Given the description of an element on the screen output the (x, y) to click on. 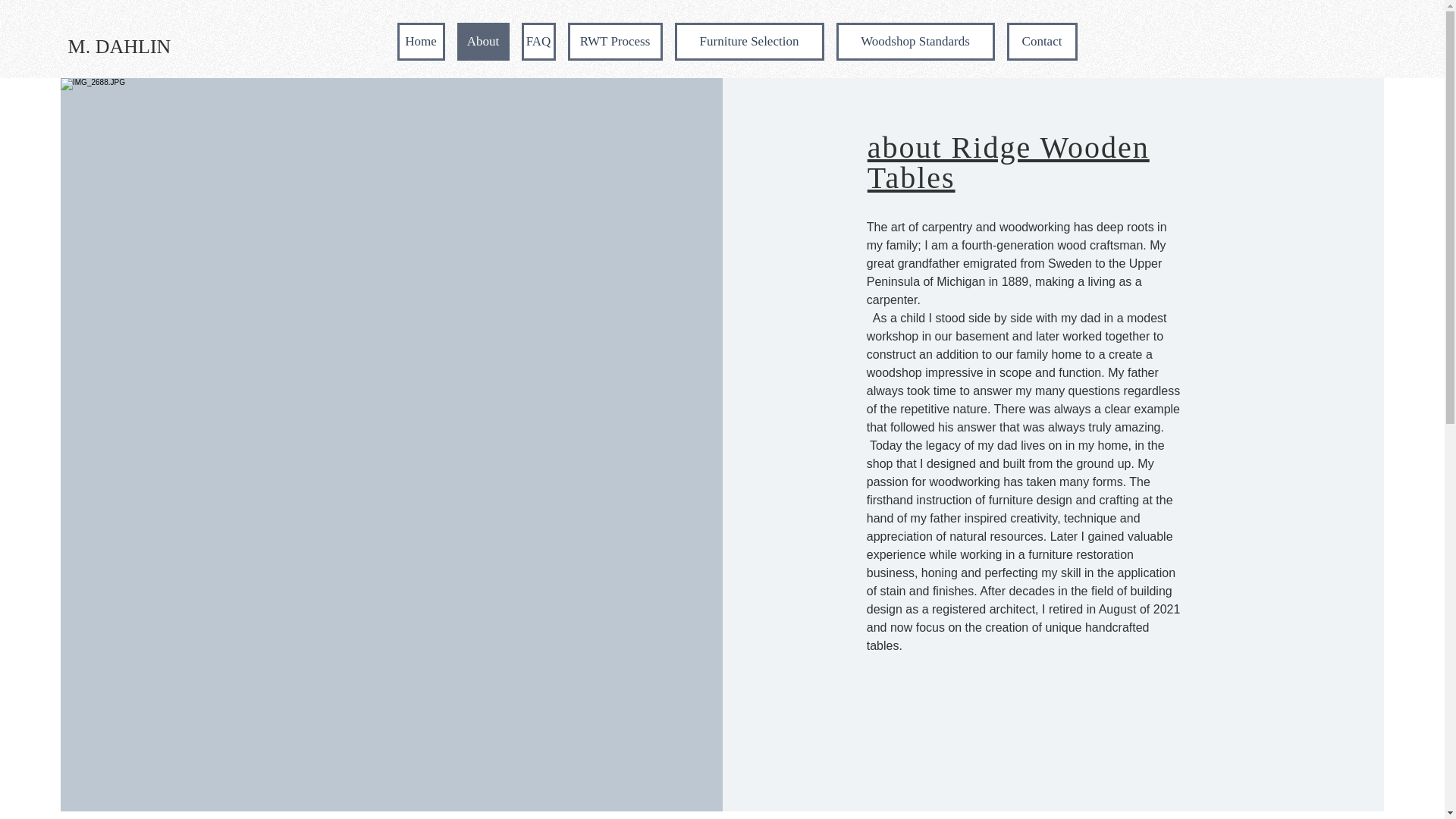
Contact (1042, 41)
M. DAHLIN (119, 46)
FAQ (538, 41)
Furniture Selection (749, 41)
About (482, 41)
Woodshop Standards (914, 41)
RWT Process (614, 41)
Home (421, 41)
